Given the description of an element on the screen output the (x, y) to click on. 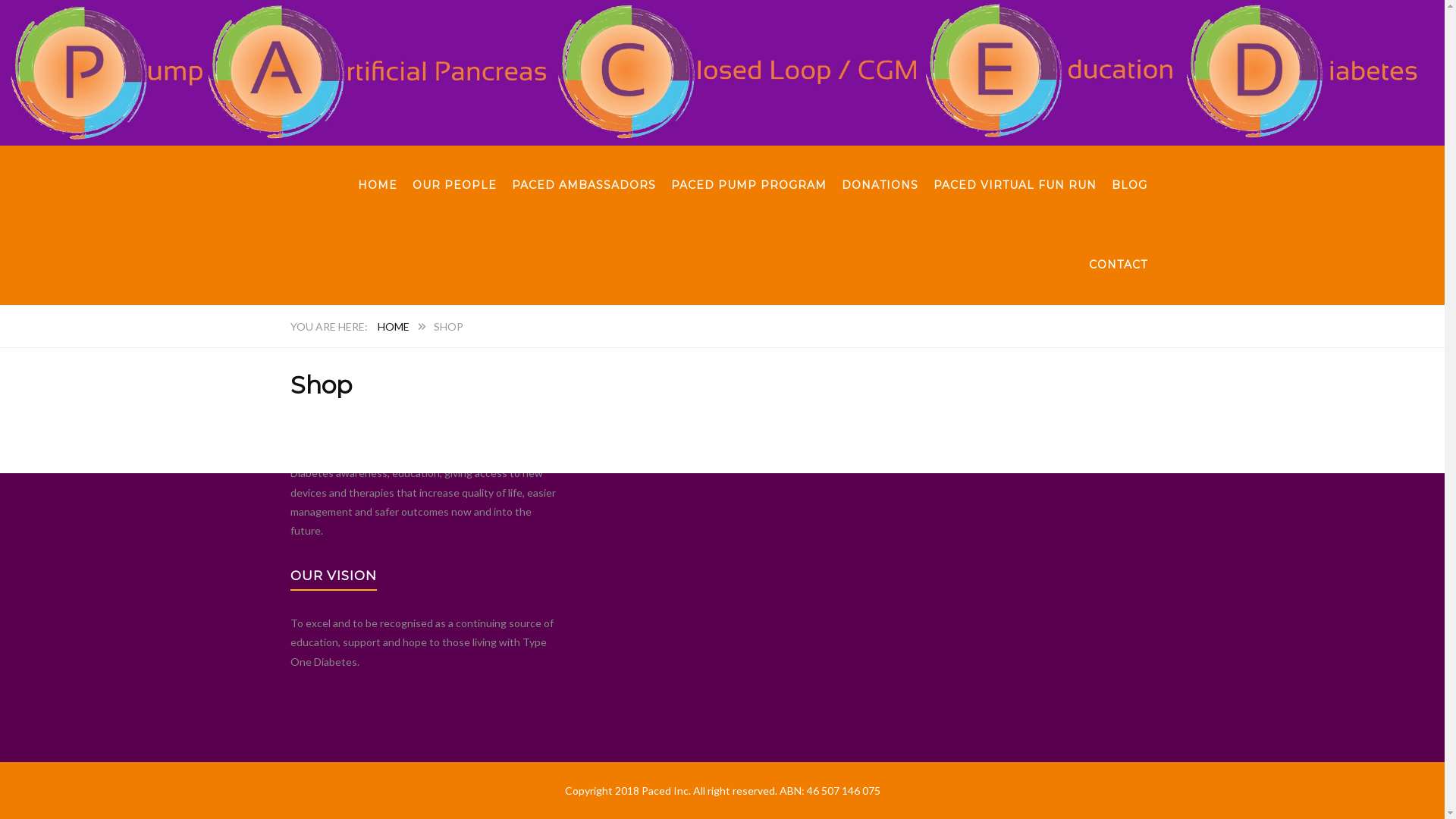
DONATIONS Element type: text (879, 185)
Paced Pump Program Element type: text (50, 539)
PACED Ambassadors Element type: text (652, 412)
Blog Element type: text (612, 466)
BLOG Element type: text (1129, 185)
Home Element type: text (616, 385)
PACED PUMP PROGRAM Element type: text (747, 185)
Our People Element type: text (765, 385)
PACED Inc. Privacy Policy Element type: text (941, 439)
Contact Us Element type: text (765, 466)
Donations Element type: text (24, 558)
PACED Pump Program Element type: text (791, 412)
Our People Element type: text (27, 501)
PACED VIRTUAL FUN RUN Element type: text (1013, 185)
Donations Element type: text (626, 439)
Paced Ambassadors Element type: text (48, 520)
deb@pacedinc.org.au Element type: text (957, 412)
PACED AMBASSADORS Element type: text (583, 185)
Contact Element type: text (19, 615)
Home Element type: text (14, 482)
OUR PEOPLE Element type: text (454, 185)
HOME Element type: text (393, 326)
PACED Virtual Fun Run Element type: text (54, 577)
CONTACT Element type: text (1117, 264)
PACED Virtual Fun Run Element type: text (793, 439)
Blog Element type: text (10, 596)
HOME Element type: text (377, 185)
